Given the description of an element on the screen output the (x, y) to click on. 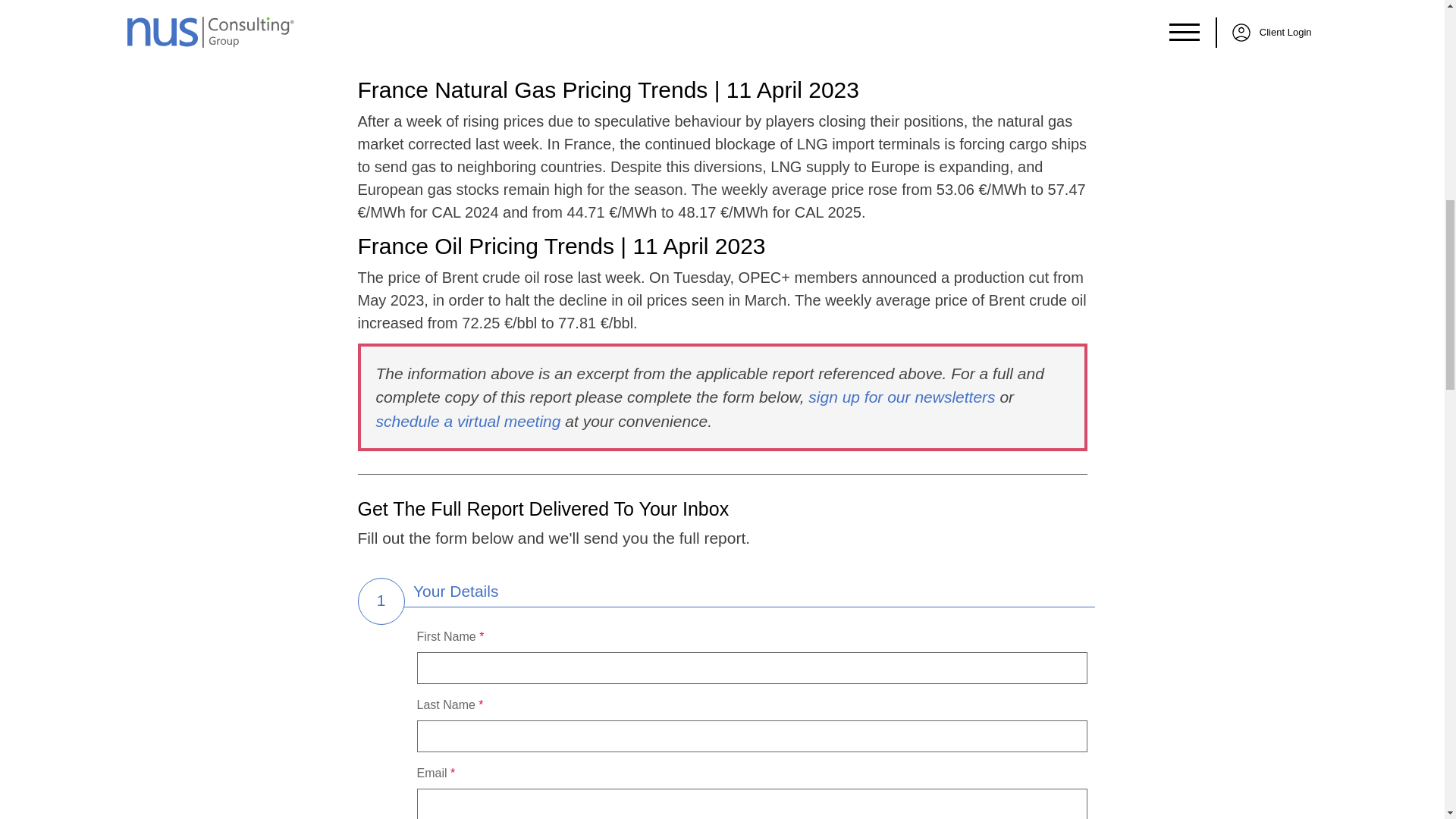
sign up for our newsletters (901, 396)
schedule a virtual meeting (467, 420)
